Given the description of an element on the screen output the (x, y) to click on. 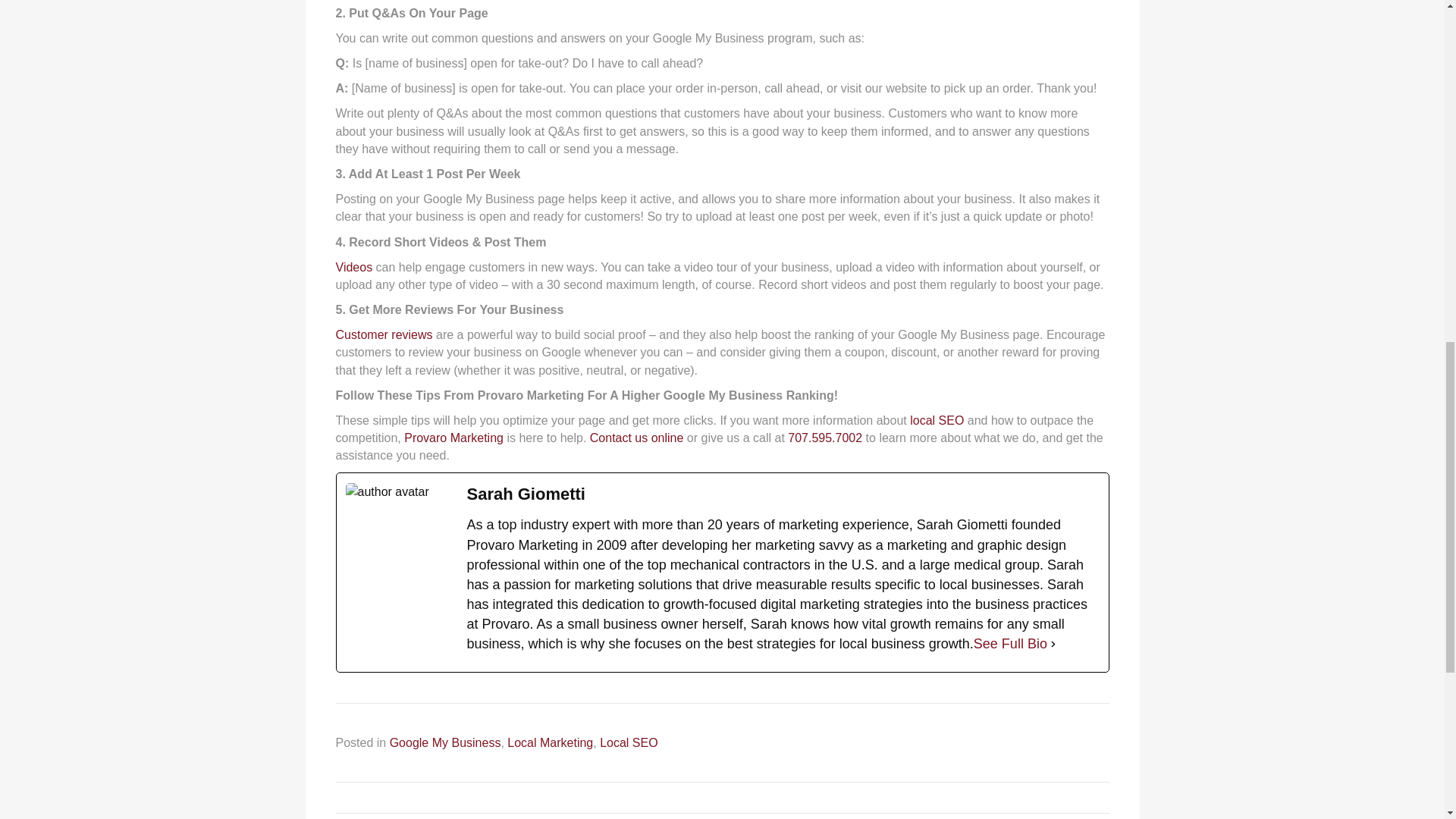
Contact us online (636, 437)
Videos (353, 267)
Google My Business (445, 742)
Customer reviews (383, 334)
Local Marketing (549, 742)
local SEO (936, 420)
See Full Bio (1010, 643)
707.595.7002 (824, 437)
Provaro Marketing (453, 437)
